Given the description of an element on the screen output the (x, y) to click on. 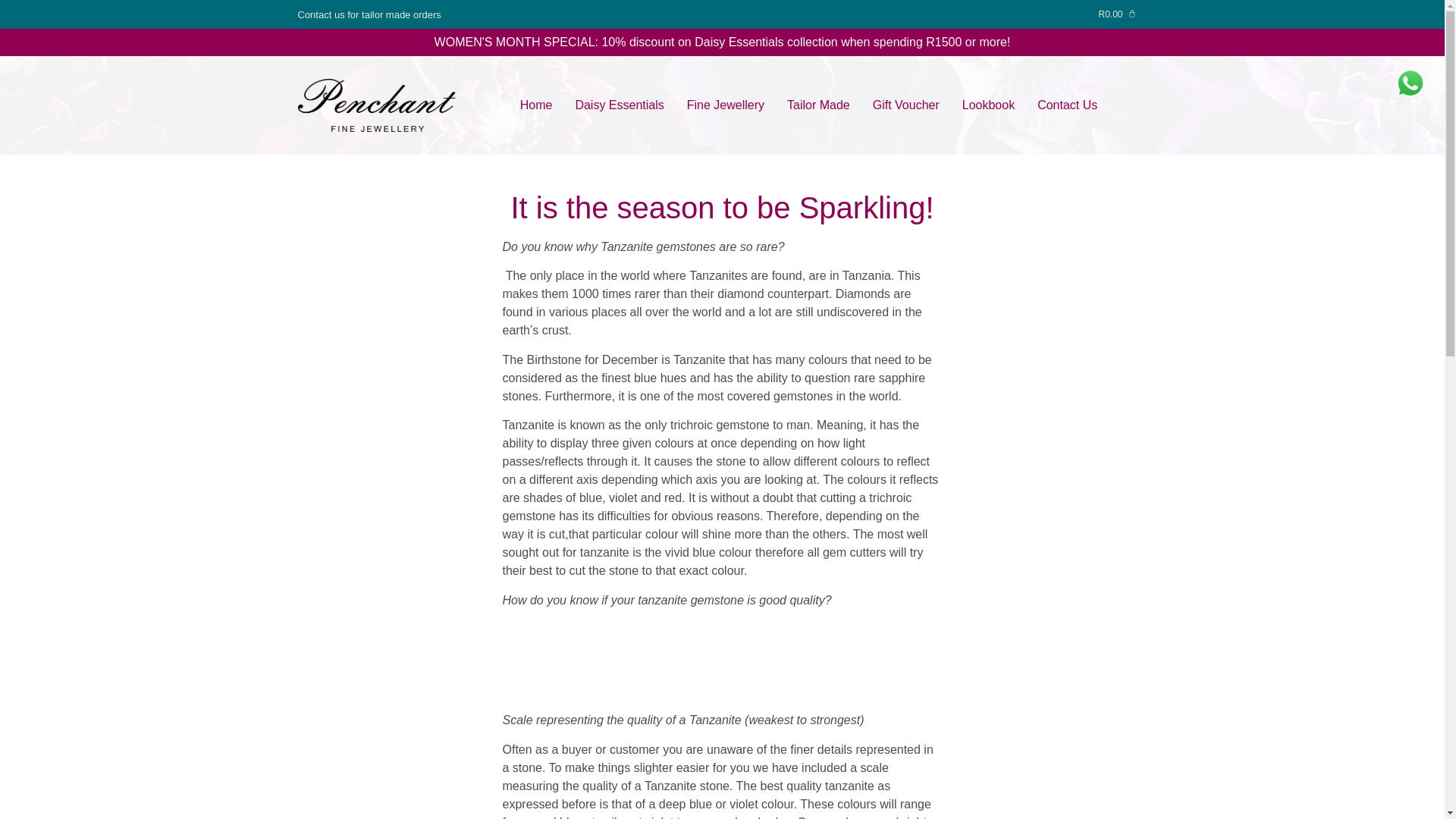
Lookbook (988, 105)
Fine Jewellery (725, 105)
WhatsApp us (1409, 82)
Daisy Essentials (619, 105)
Contact Us (1066, 105)
R0.00 (1116, 13)
Gift Voucher (905, 105)
Home (536, 105)
Tailor Made (818, 105)
Contact us for tailor made orders (369, 14)
